Given the description of an element on the screen output the (x, y) to click on. 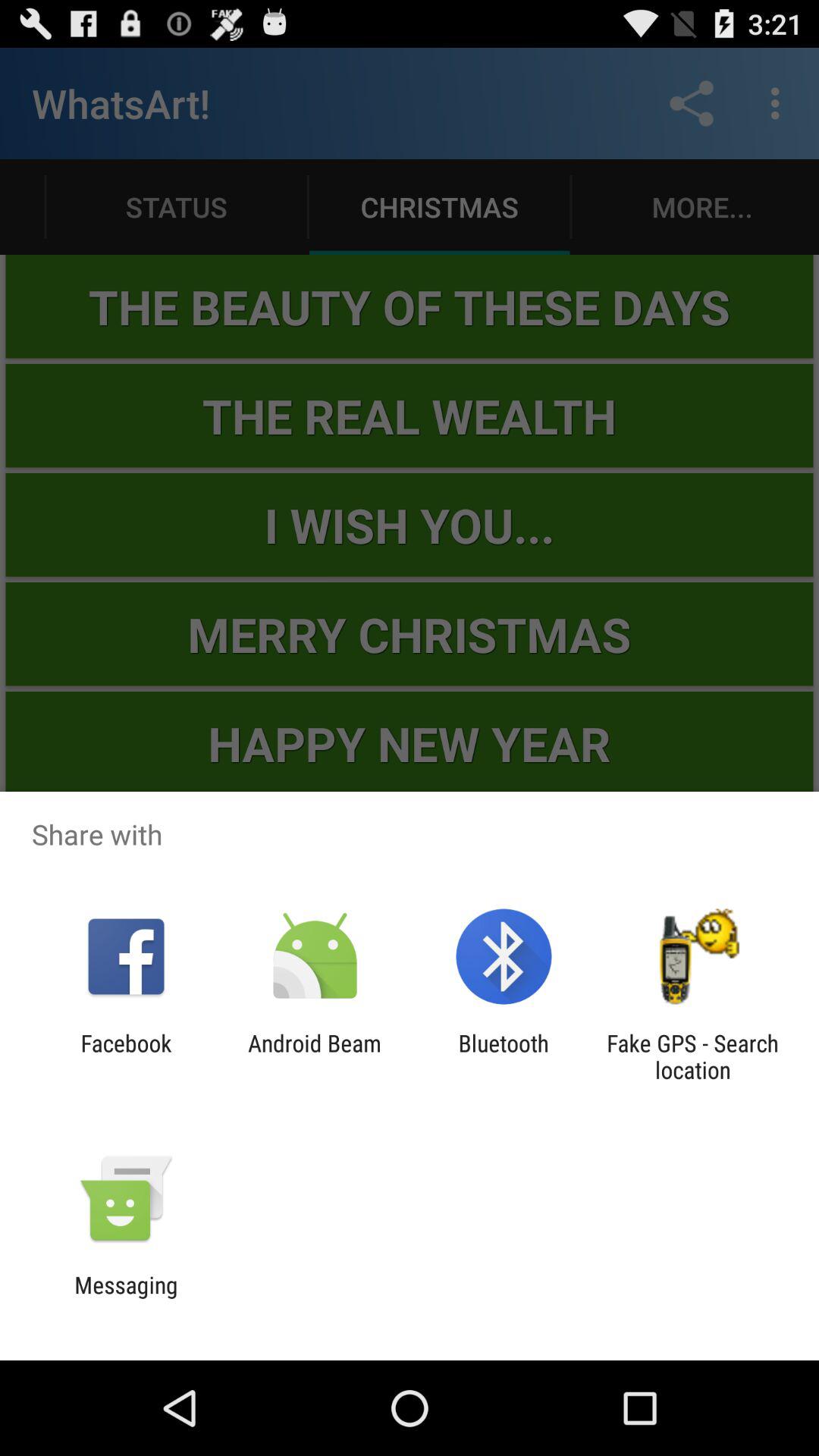
scroll to the android beam icon (314, 1056)
